Given the description of an element on the screen output the (x, y) to click on. 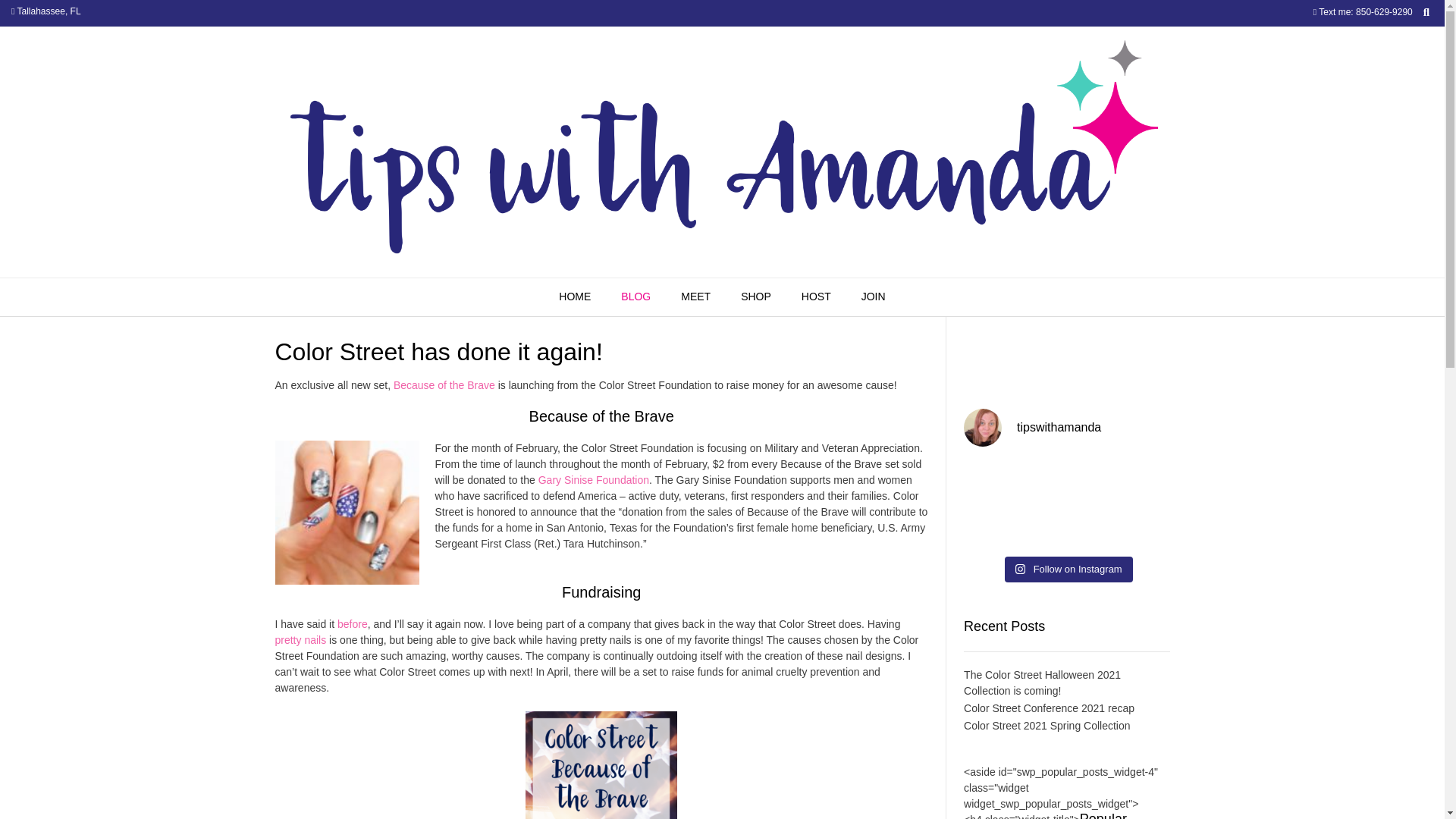
Because of the Brave (444, 385)
JOIN (873, 297)
Gary Sinise Foundation (593, 480)
MEET (695, 297)
HOST (815, 297)
BLOG (635, 297)
SHOP (755, 297)
before (352, 623)
HOME (574, 297)
